Given the description of an element on the screen output the (x, y) to click on. 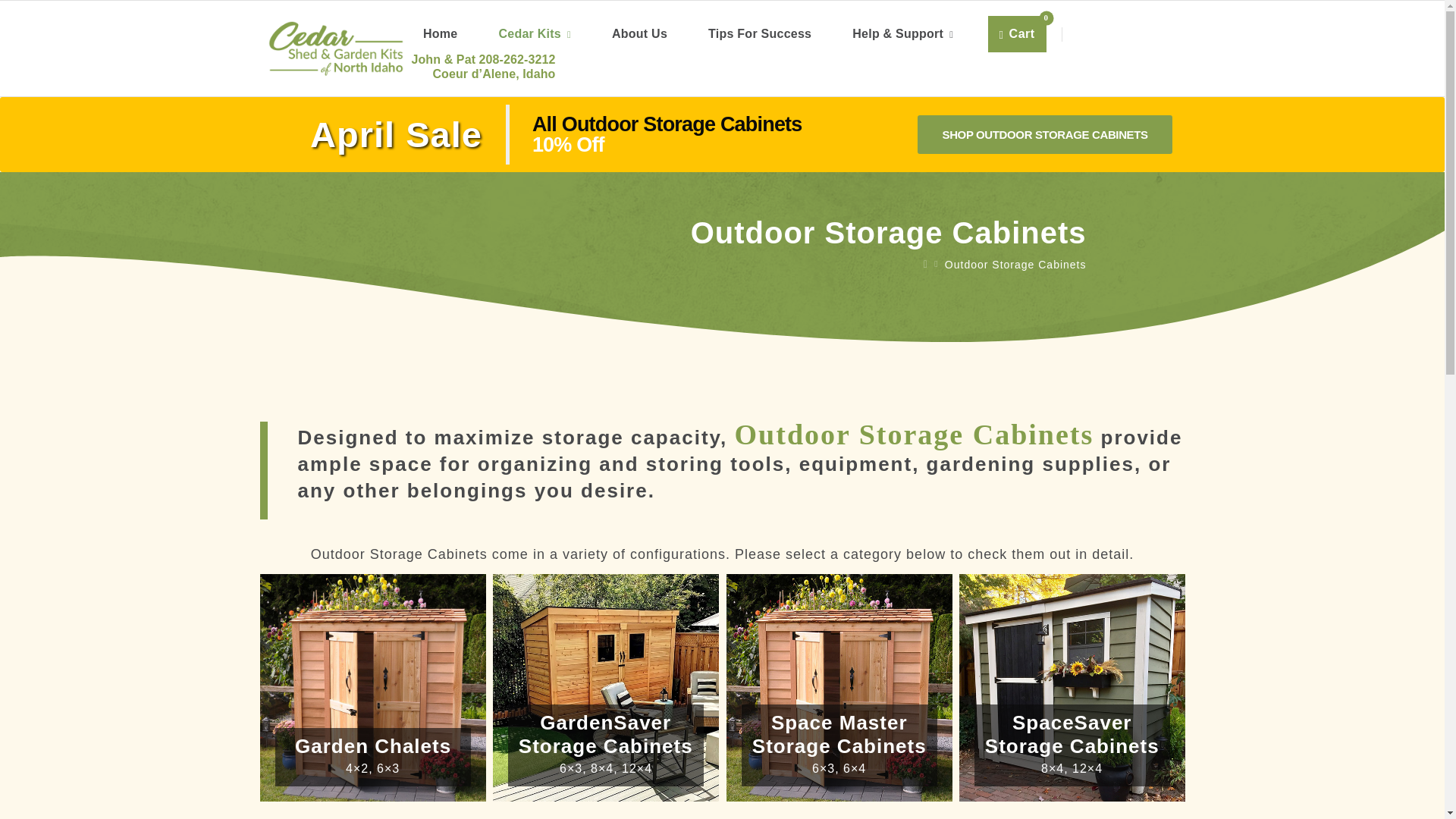
Cedar Kits (1017, 33)
About Us (534, 33)
SHOP OUTDOOR STORAGE CABINETS (638, 33)
Tips For Success (1045, 134)
Cedar Shed and Garden Kits of North Idaho -  (760, 33)
Home (334, 47)
